Given the description of an element on the screen output the (x, y) to click on. 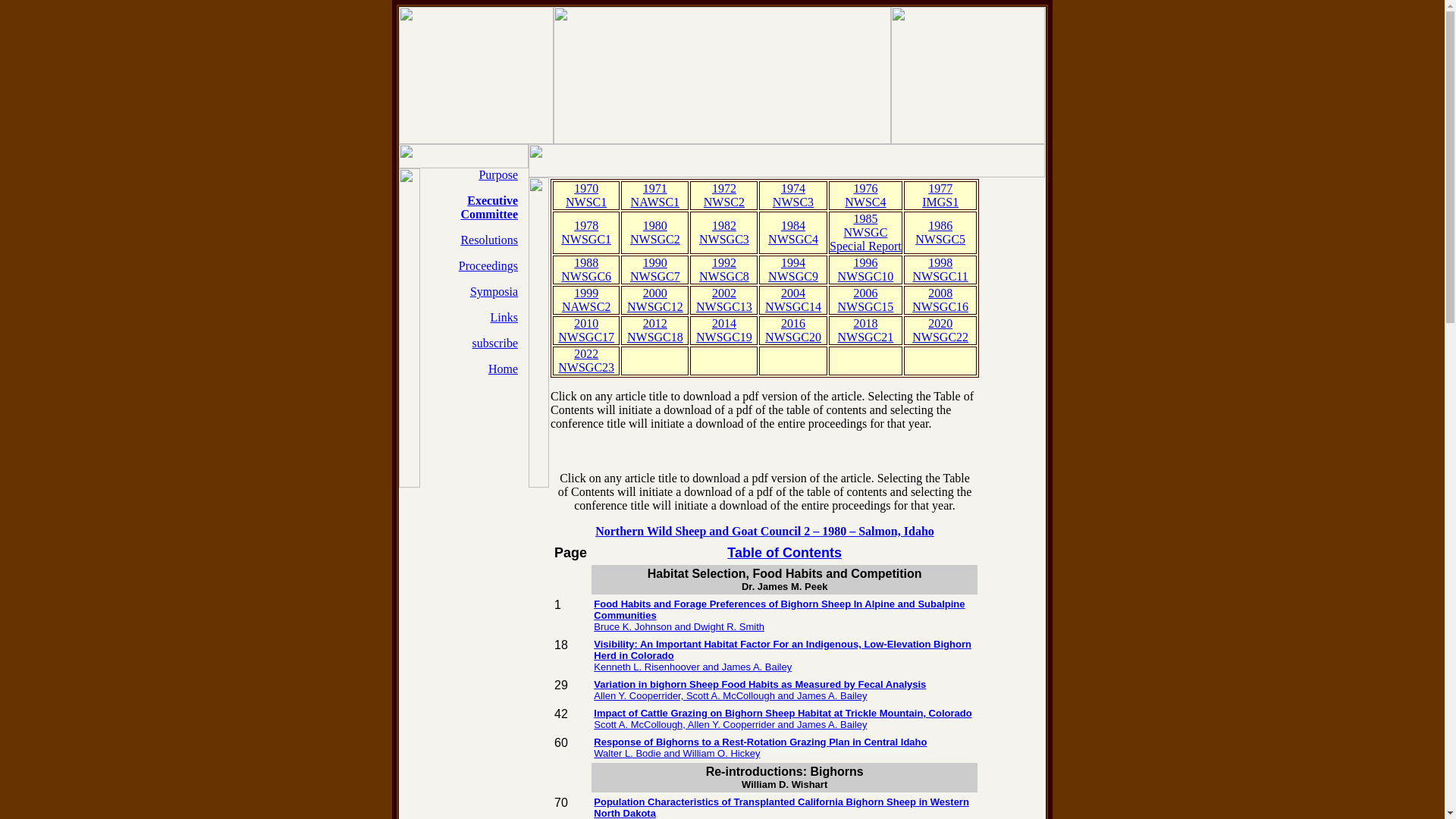
Purpose (498, 174)
Executive Committee (865, 299)
Symposia (864, 194)
Proceedings (654, 194)
